Given the description of an element on the screen output the (x, y) to click on. 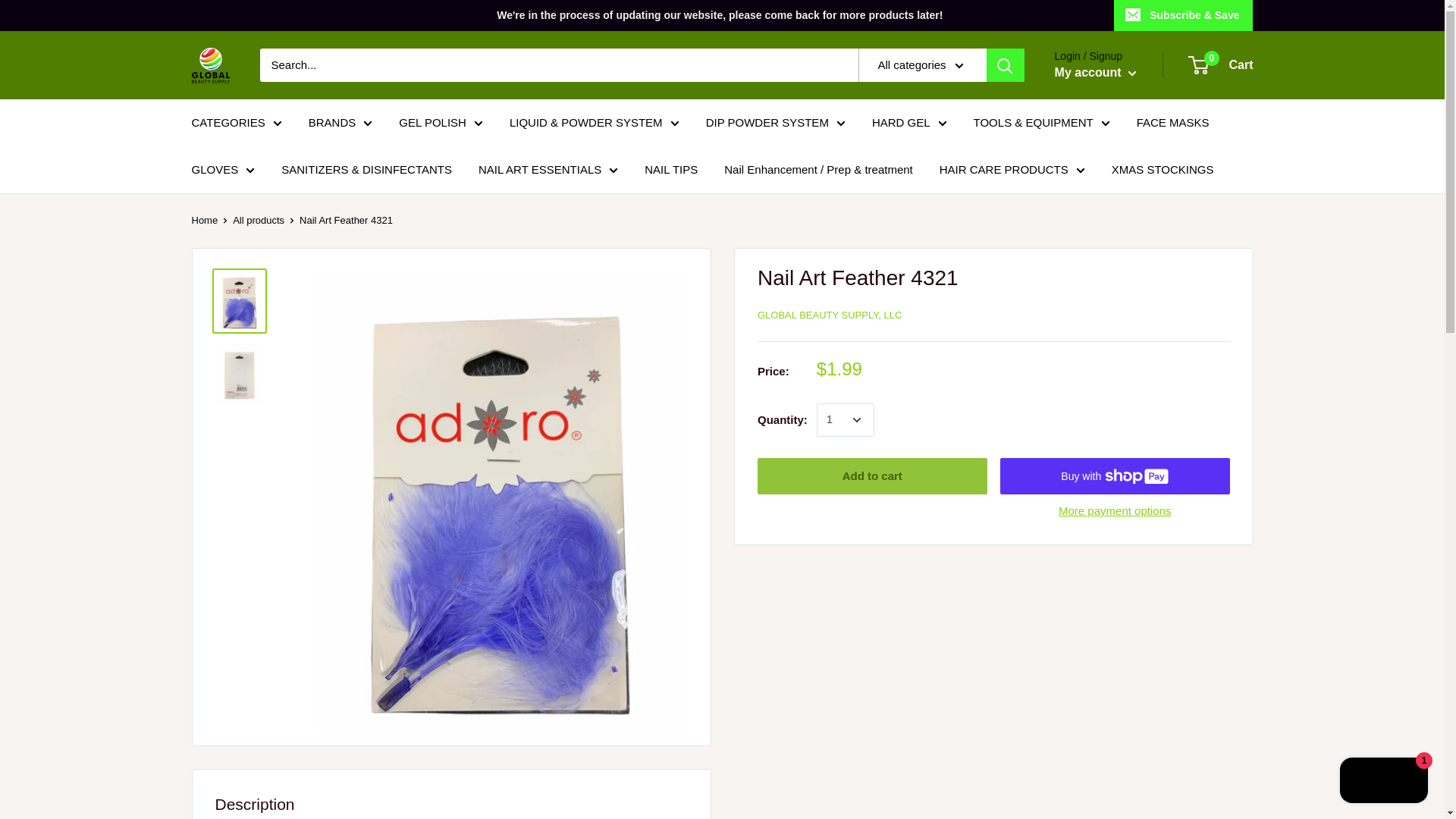
Shopify online store chat (1383, 781)
